Given the description of an element on the screen output the (x, y) to click on. 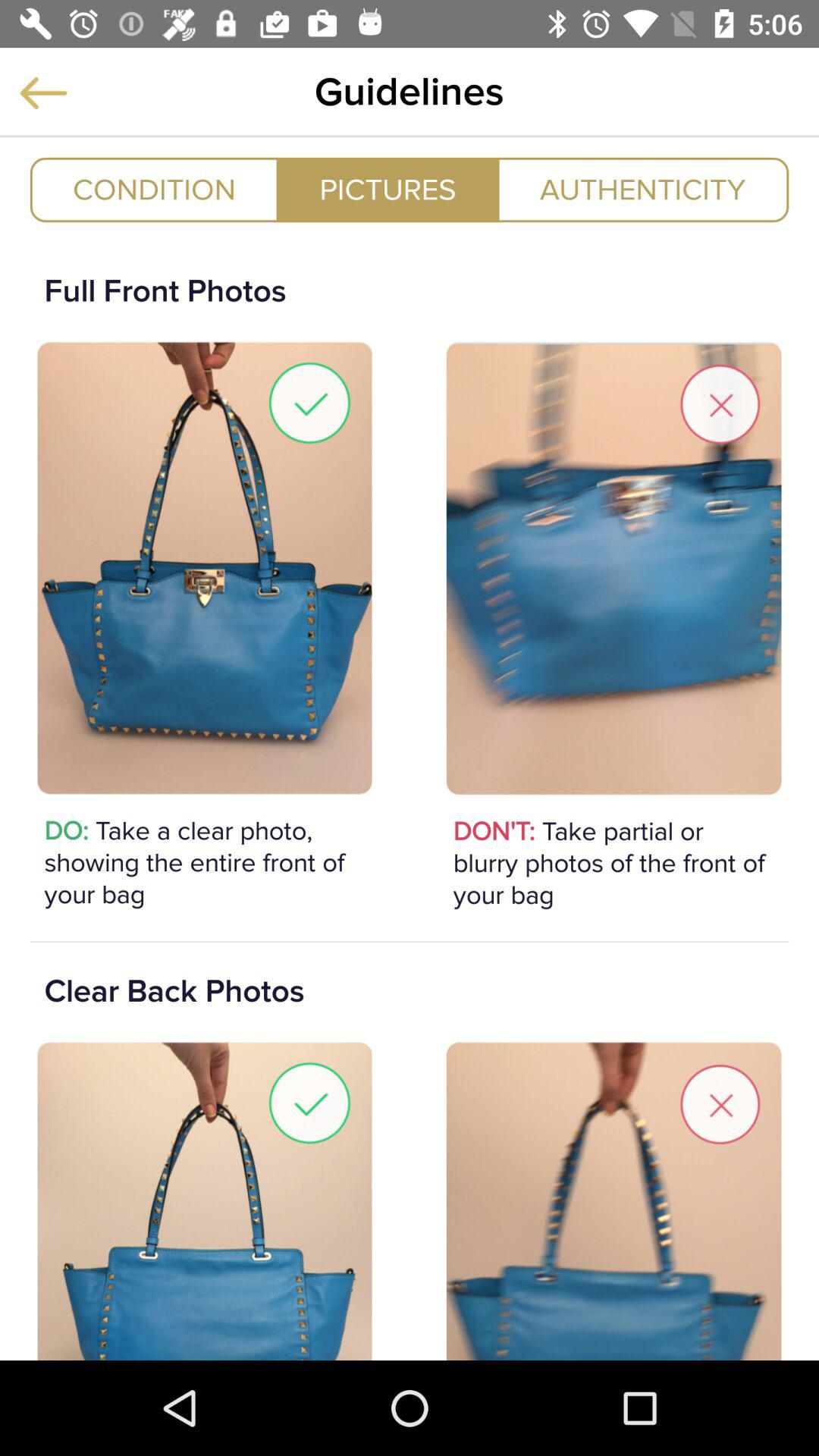
flip to the condition icon (154, 189)
